Given the description of an element on the screen output the (x, y) to click on. 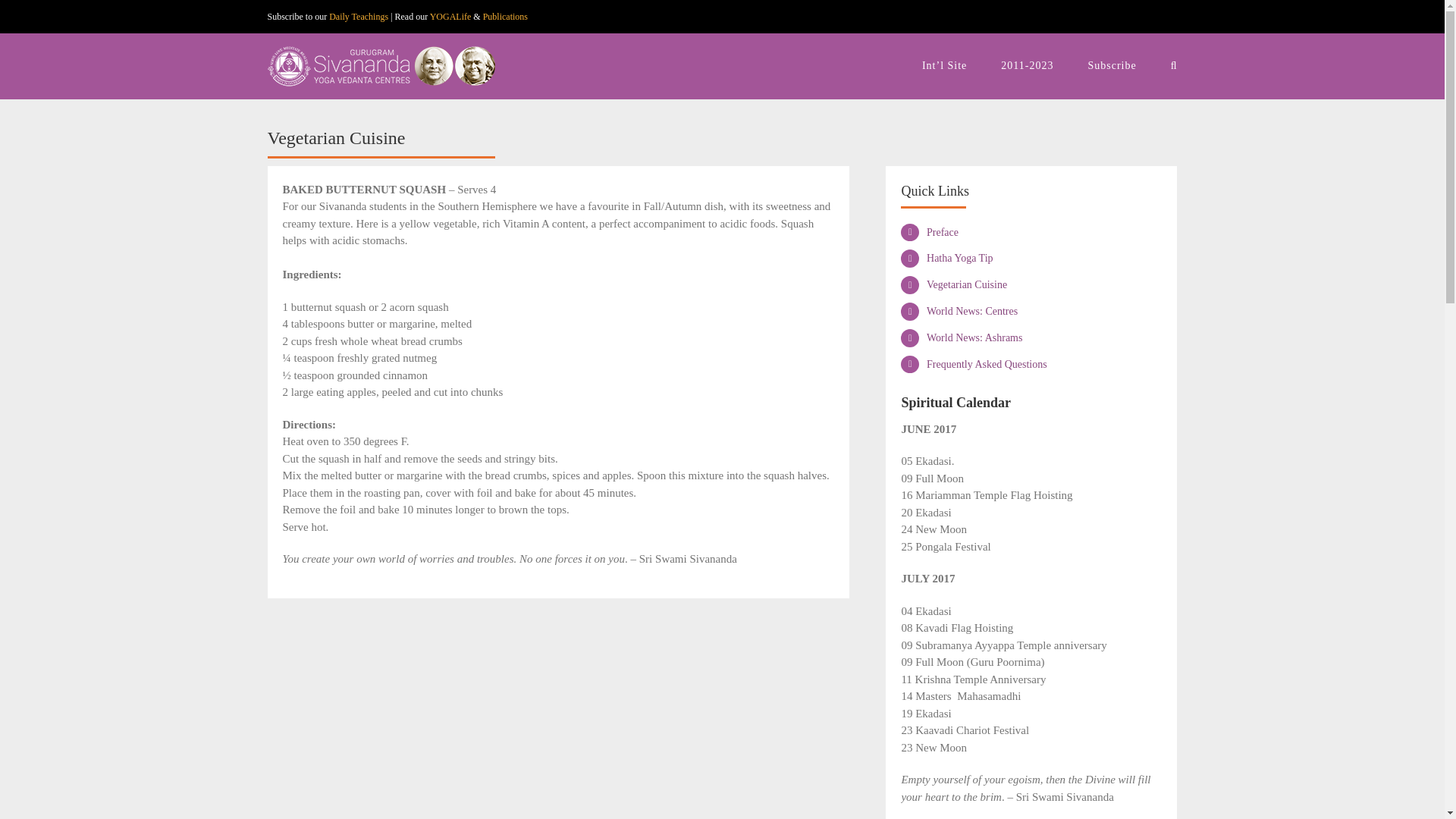
Search (1173, 64)
Daily Teachings (358, 16)
2011-2023 (1026, 64)
YOGALife (450, 16)
Publications (505, 16)
